Given the description of an element on the screen output the (x, y) to click on. 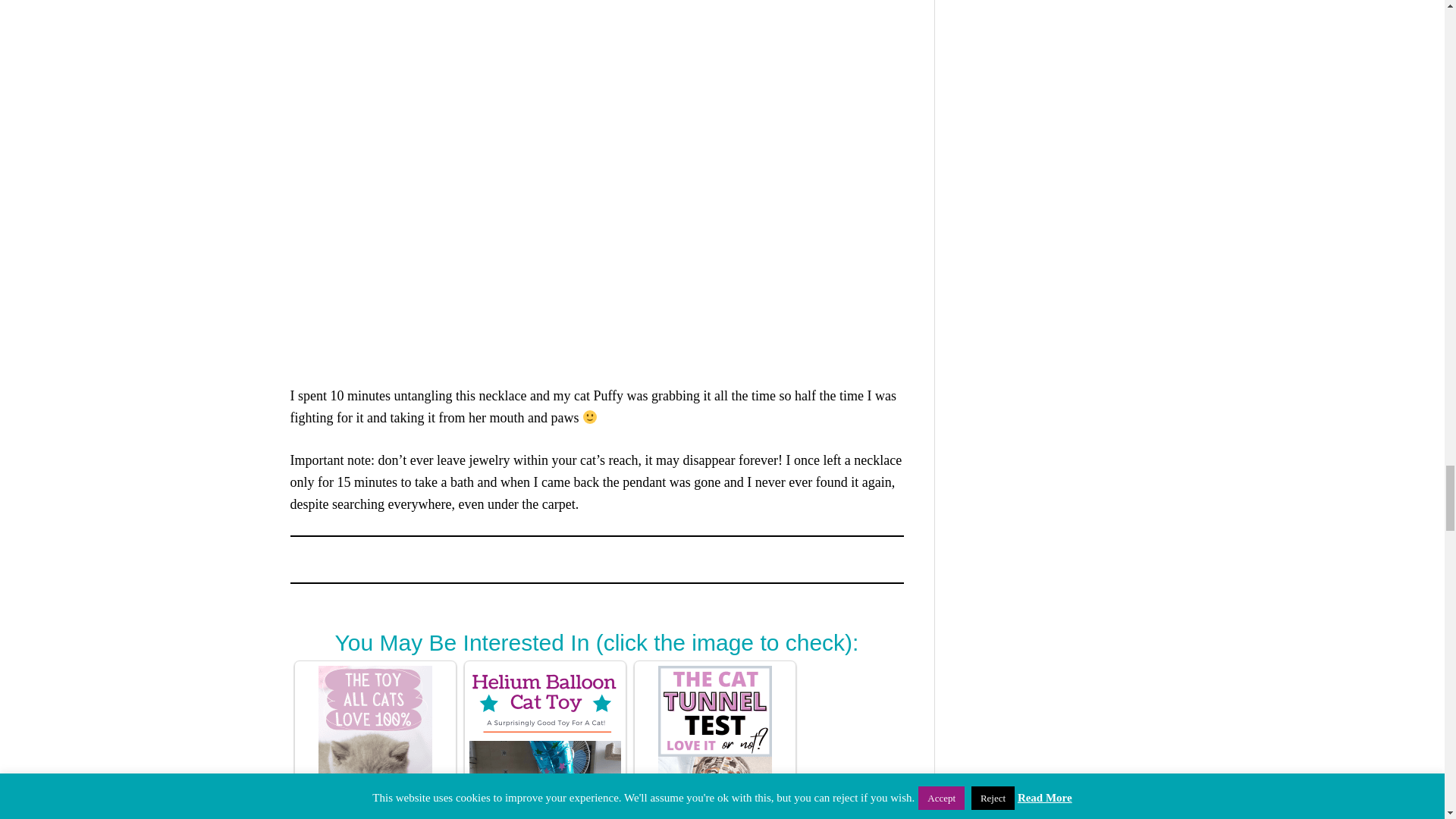
Helium Balloon Toy For Cat (544, 742)
